Given the description of an element on the screen output the (x, y) to click on. 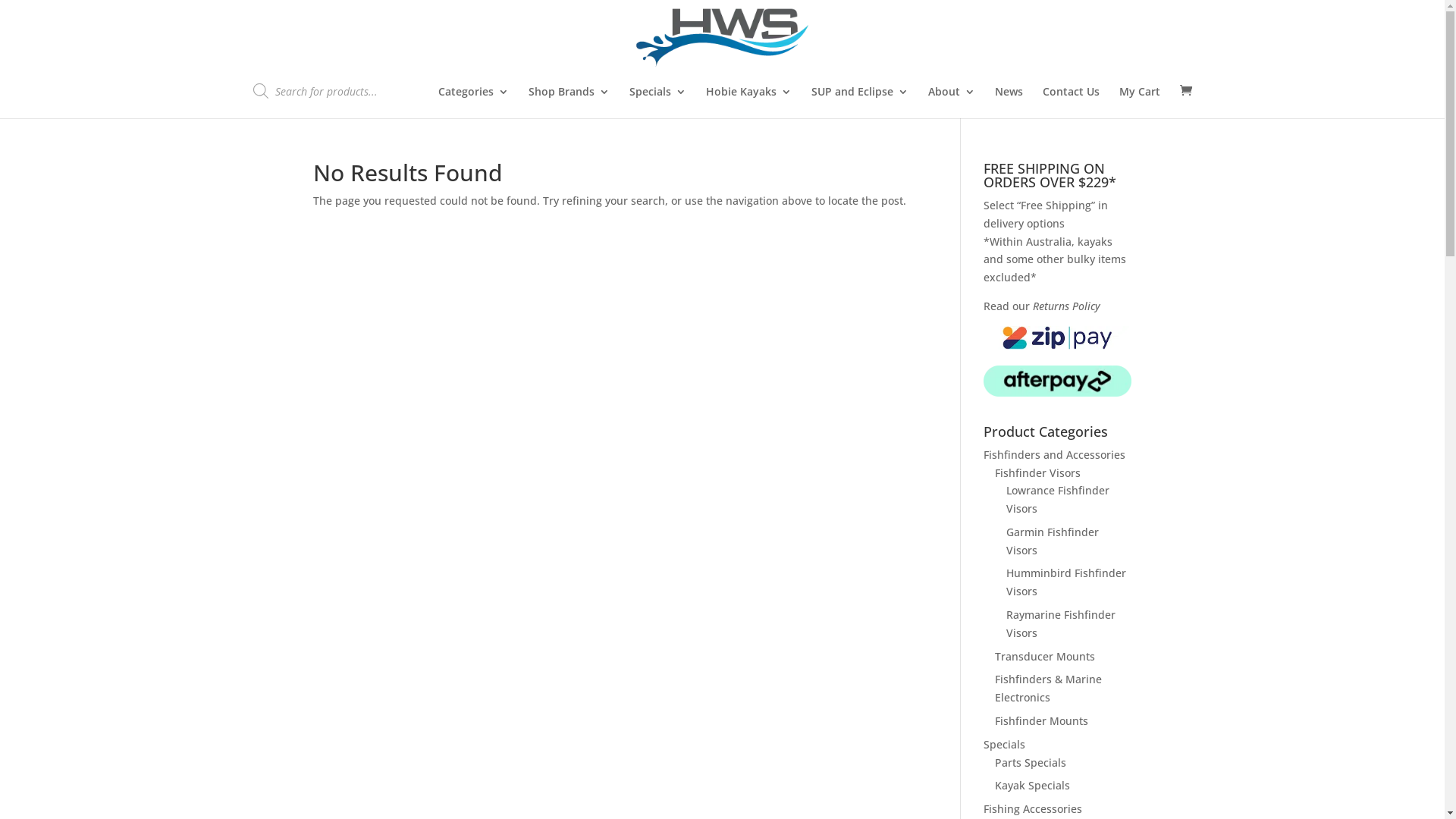
Returns Policy Element type: text (1066, 305)
Humminbird Fishfinder Visors Element type: text (1066, 581)
Contact Us Element type: text (1069, 102)
Specials Element type: text (657, 102)
Fishfinders & Marine Electronics Element type: text (1047, 687)
Fishfinder Visors Element type: text (1037, 472)
Specials Element type: text (1004, 744)
Garmin Fishfinder Visors Element type: text (1052, 540)
Parts Specials Element type: text (1030, 762)
Fishfinders and Accessories Element type: text (1054, 454)
Lowrance Fishfinder Visors Element type: text (1057, 499)
News Element type: text (1008, 102)
Shop Brands Element type: text (567, 102)
Transducer Mounts Element type: text (1044, 656)
Categories Element type: text (473, 102)
My Cart Element type: text (1139, 102)
Fishing Accessories Element type: text (1032, 808)
Raymarine Fishfinder Visors Element type: text (1060, 623)
About Element type: text (951, 102)
Hobie Kayaks Element type: text (747, 102)
Fishfinder Mounts Element type: text (1041, 720)
Kayak Specials Element type: text (1032, 785)
SUP and Eclipse Element type: text (859, 102)
